Given the description of an element on the screen output the (x, y) to click on. 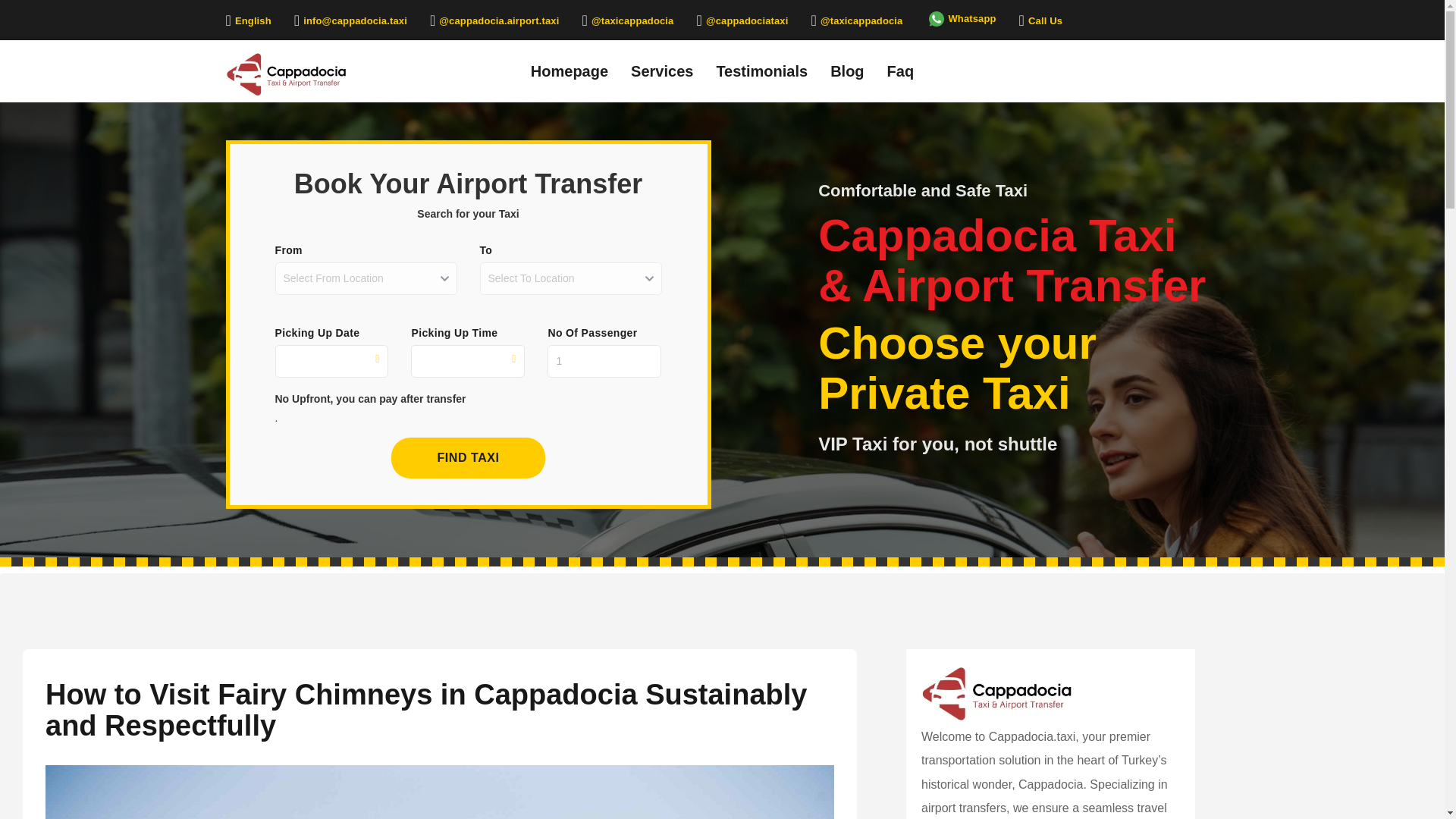
Whatsapp (960, 18)
1 (604, 360)
Testimonials (761, 70)
Homepage (569, 70)
FIND TAXI (467, 457)
Blog (846, 70)
Services (662, 70)
English (248, 20)
Call Us (1040, 20)
